Given the description of an element on the screen output the (x, y) to click on. 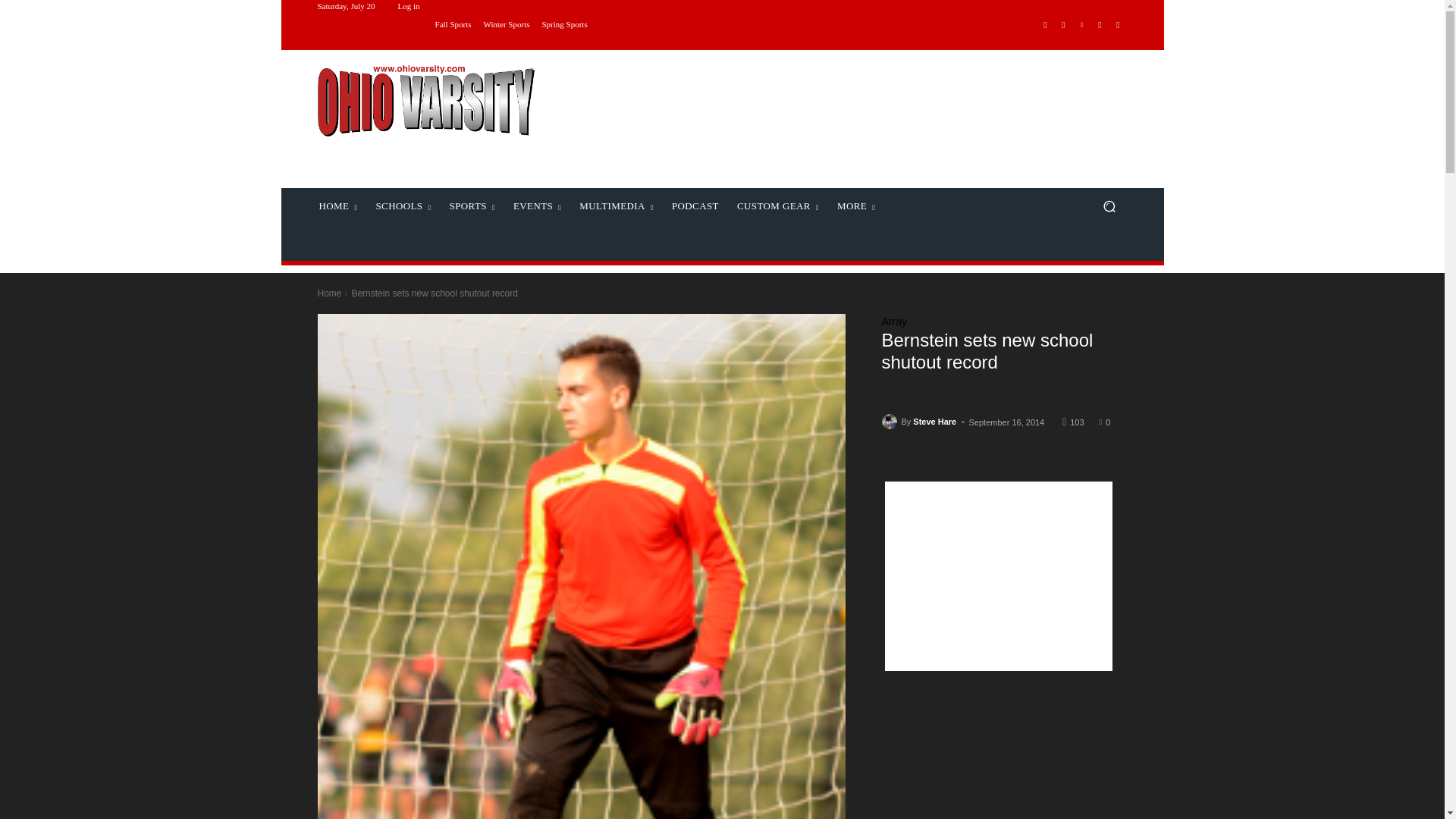
Youtube (1117, 24)
Advertisement (846, 119)
Linkedin (1080, 24)
Twitter (1099, 24)
Instagram (1062, 24)
Facebook (1044, 24)
